Given the description of an element on the screen output the (x, y) to click on. 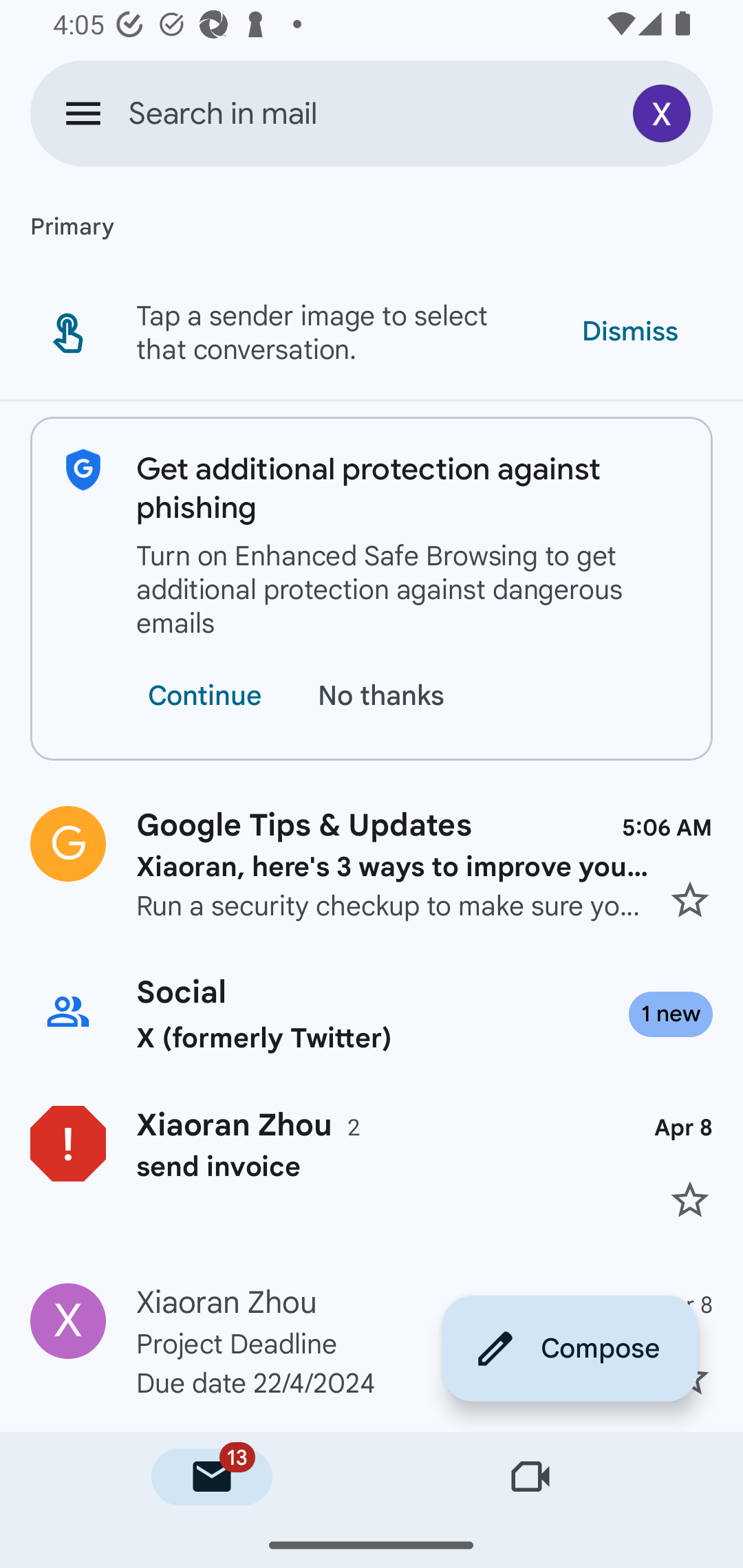
Open navigation drawer (82, 112)
Dismiss Dismiss tip (629, 331)
Continue (204, 695)
No thanks (385, 695)
Social X (formerly Twitter) 1 new (371, 1014)
Compose (569, 1348)
Meet (530, 1476)
